Given the description of an element on the screen output the (x, y) to click on. 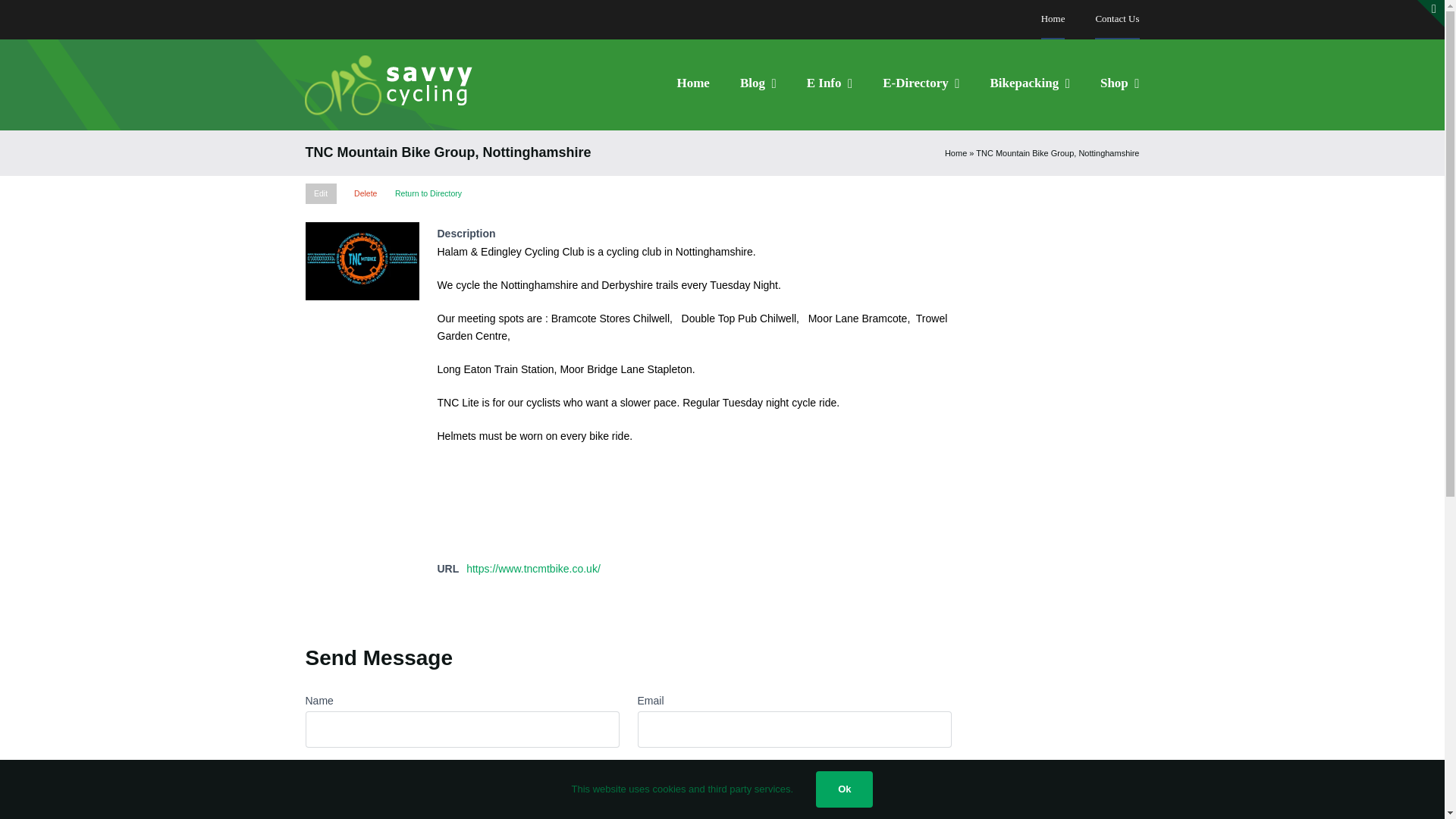
logo (399, 84)
Contact Us (1116, 19)
TNC Mountain Bike Group, Nottinghamshire (361, 260)
